Given the description of an element on the screen output the (x, y) to click on. 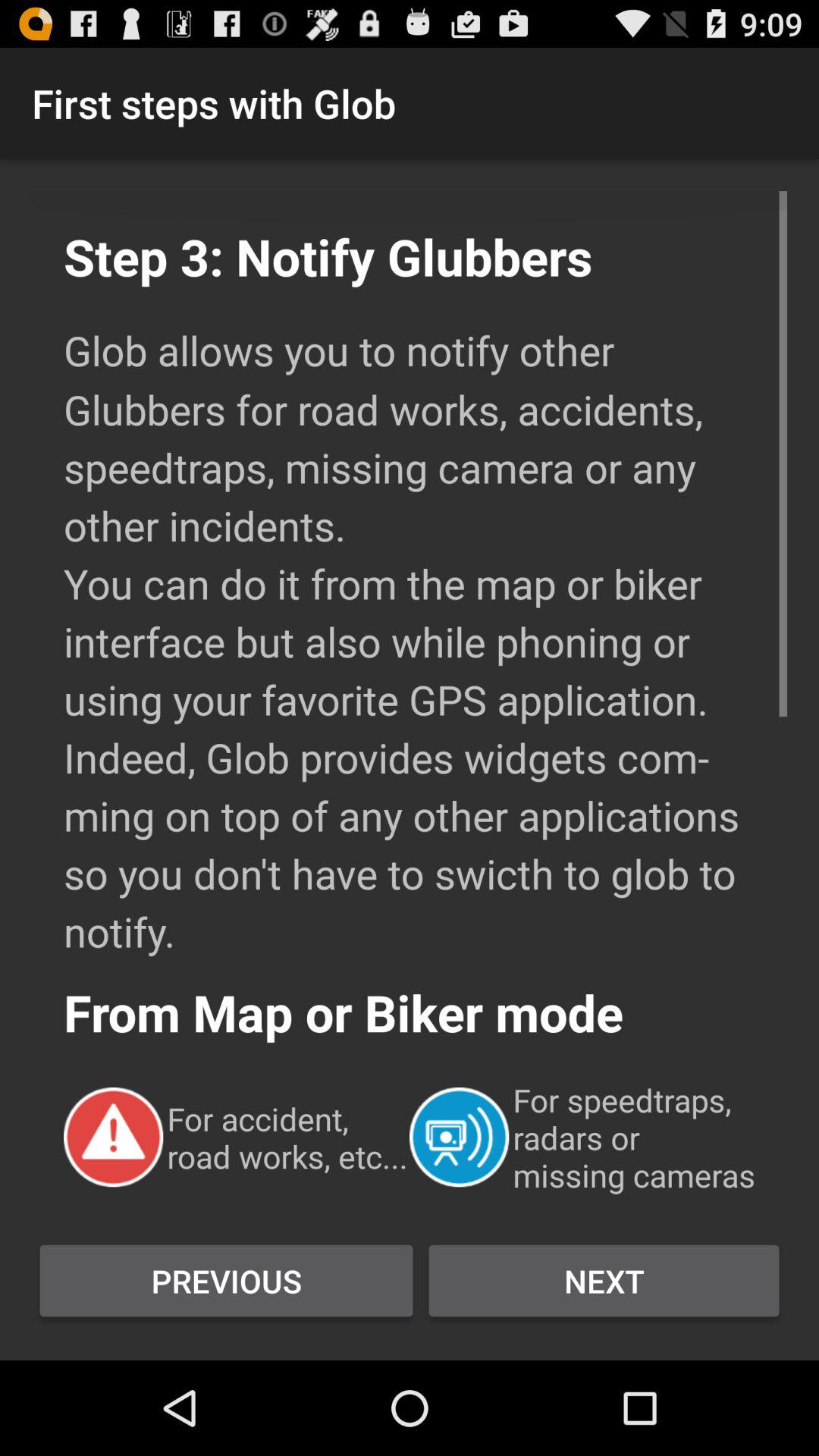
launch button next to the next icon (225, 1280)
